Given the description of an element on the screen output the (x, y) to click on. 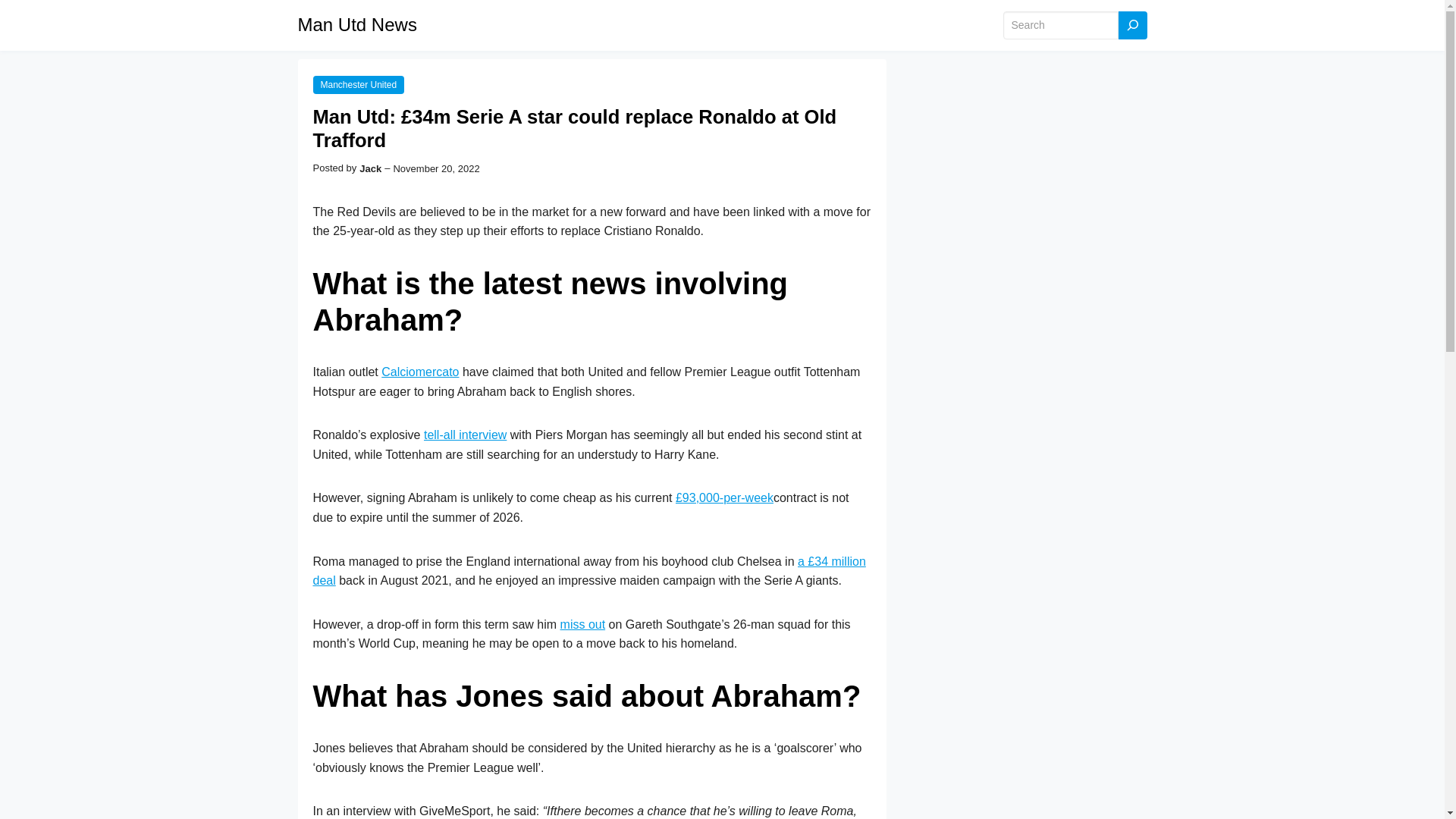
Calciomercato (419, 371)
Manchester United (358, 85)
miss out (582, 624)
tell-all interview (464, 434)
Man Utd News (356, 24)
